Given the description of an element on the screen output the (x, y) to click on. 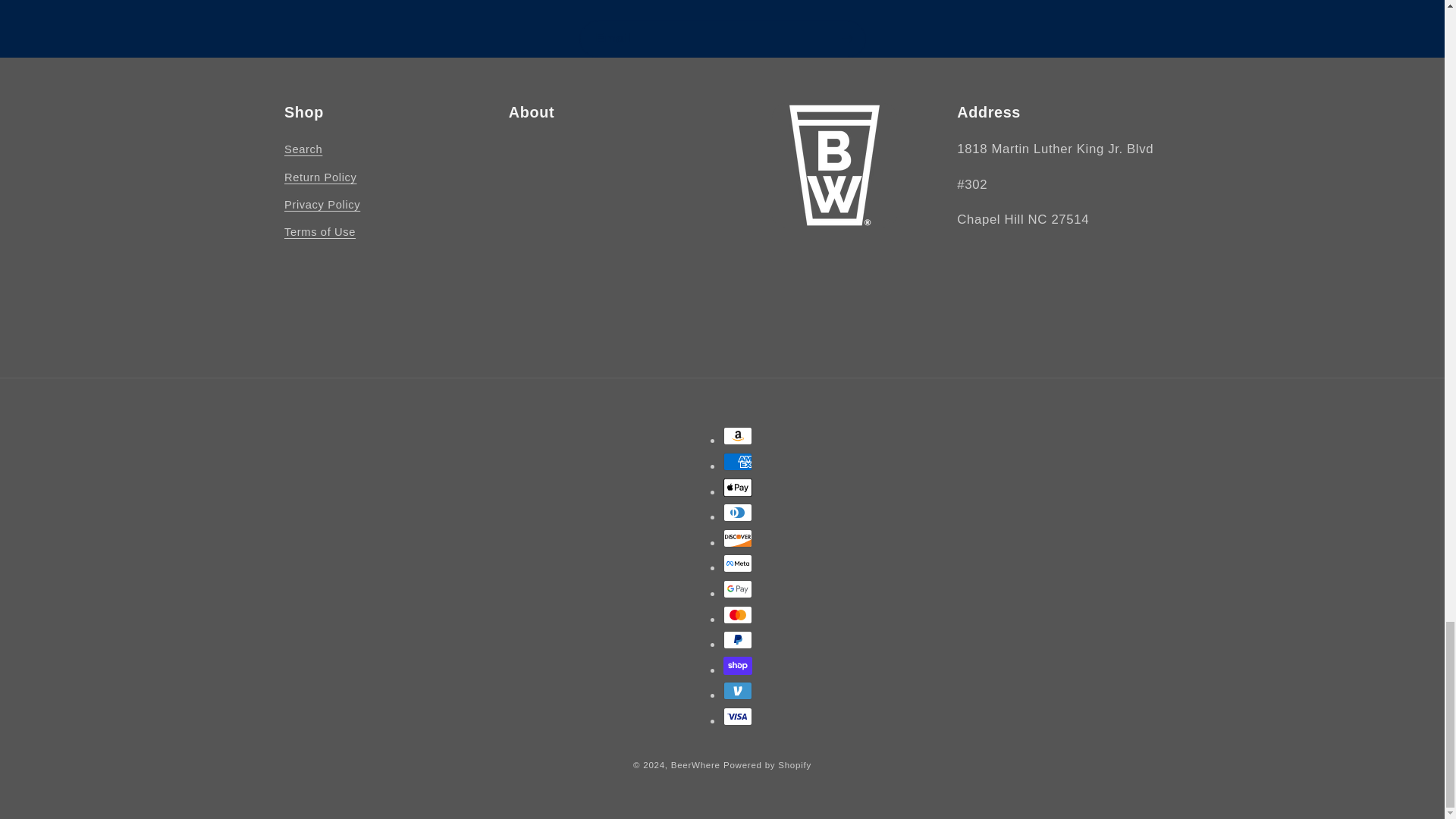
Meta Pay (737, 563)
Visa (737, 716)
Google Pay (737, 588)
Apple Pay (737, 487)
Amazon (737, 435)
Venmo (737, 690)
American Express (737, 461)
Shop Pay (737, 665)
Discover (737, 538)
Diners Club (737, 512)
